Given the description of an element on the screen output the (x, y) to click on. 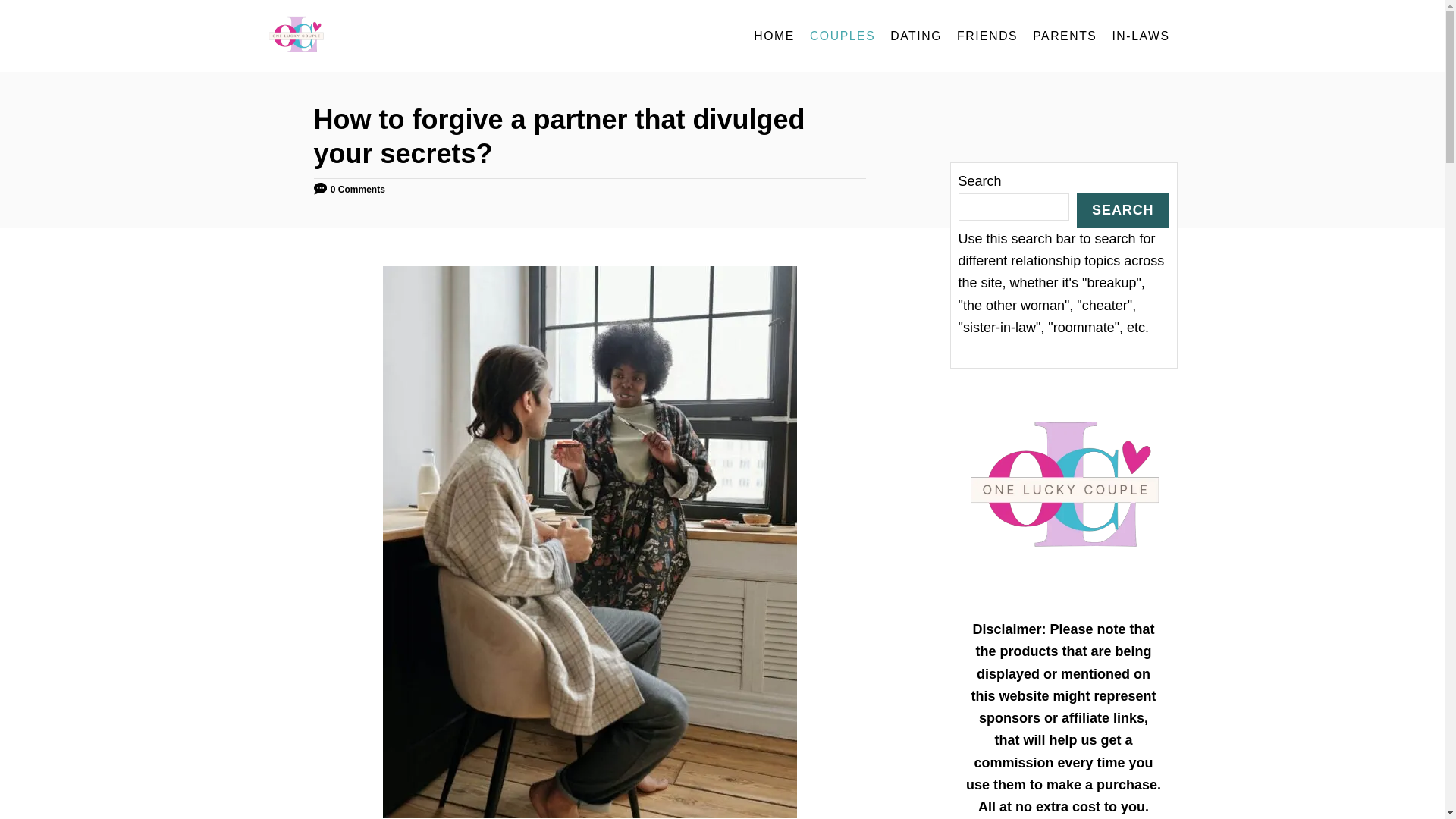
IN-LAWS (1139, 36)
PARENTS (1064, 36)
DATING (915, 36)
OLC (403, 36)
COUPLES (842, 36)
HOME (773, 36)
FRIENDS (987, 36)
SEARCH (1123, 209)
